Given the description of an element on the screen output the (x, y) to click on. 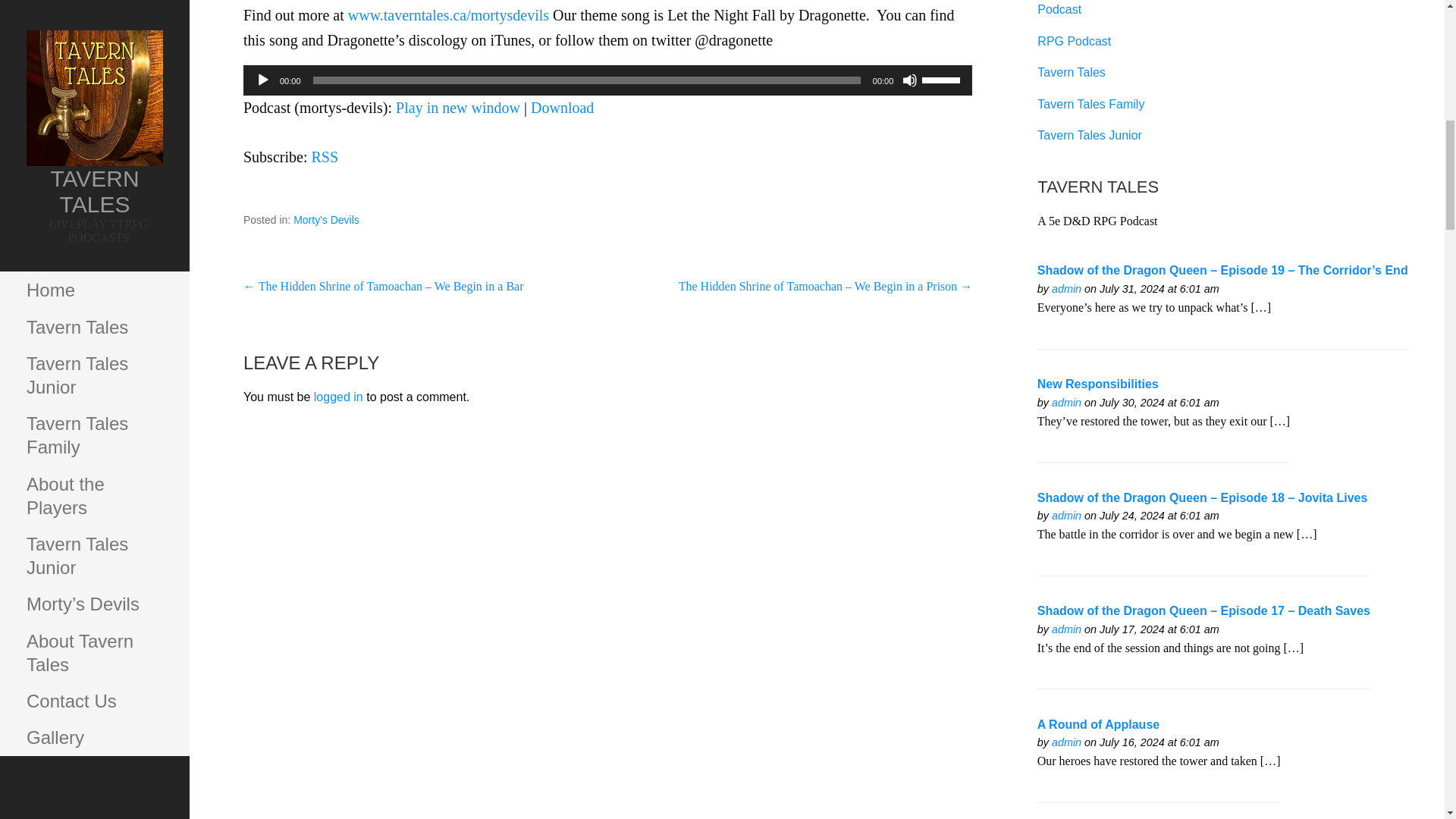
Play in new window (457, 107)
www.taverntales.ca (1066, 515)
www.taverntales.ca (1066, 629)
Subscribe via RSS (324, 156)
www.taverntales.ca (1066, 288)
Mute (909, 79)
Play (263, 79)
www.taverntales.ca (1066, 742)
www.taverntales.ca (1066, 402)
Download (562, 107)
